Given the description of an element on the screen output the (x, y) to click on. 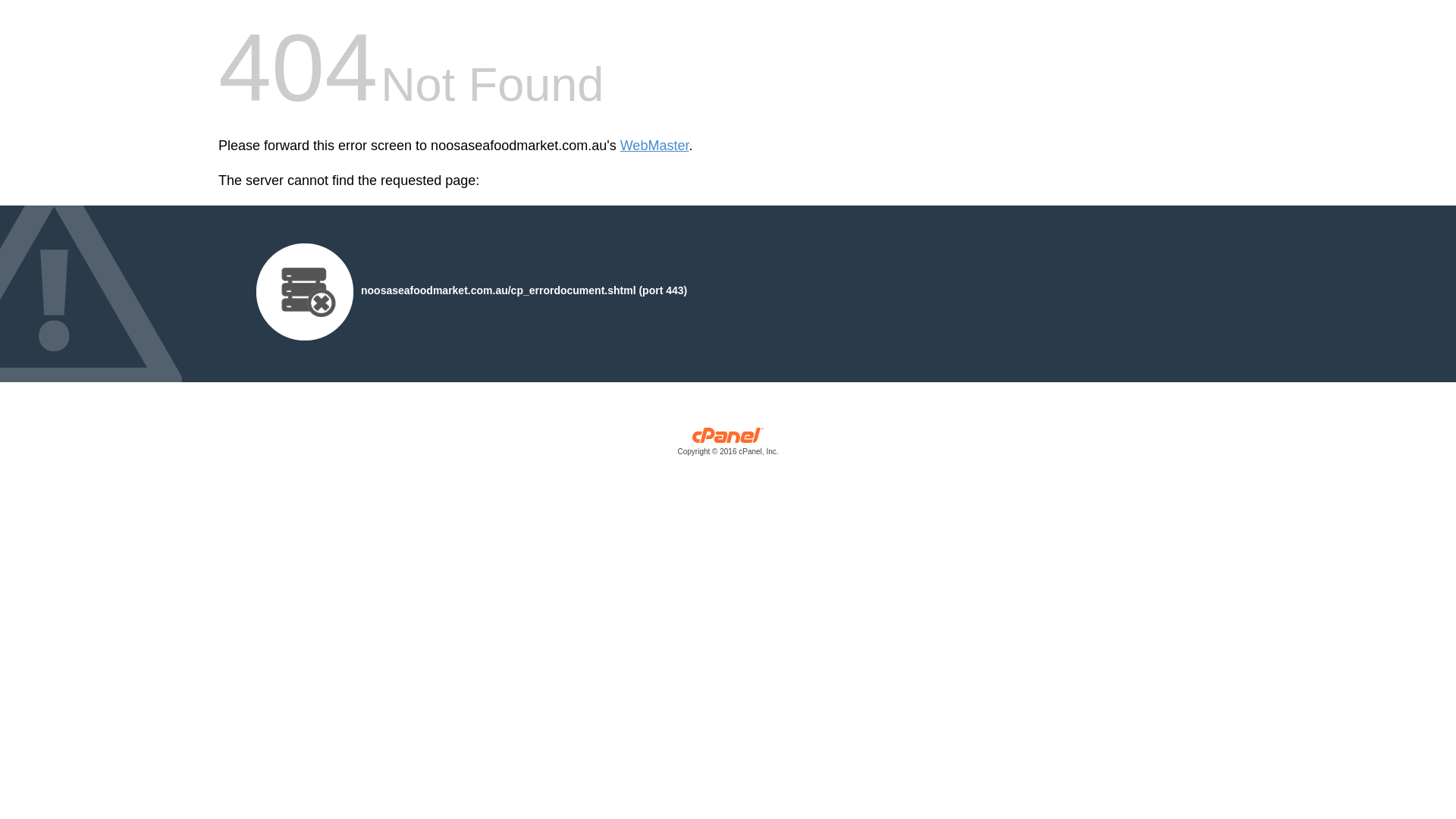
WebMaster Element type: text (654, 145)
